Given the description of an element on the screen output the (x, y) to click on. 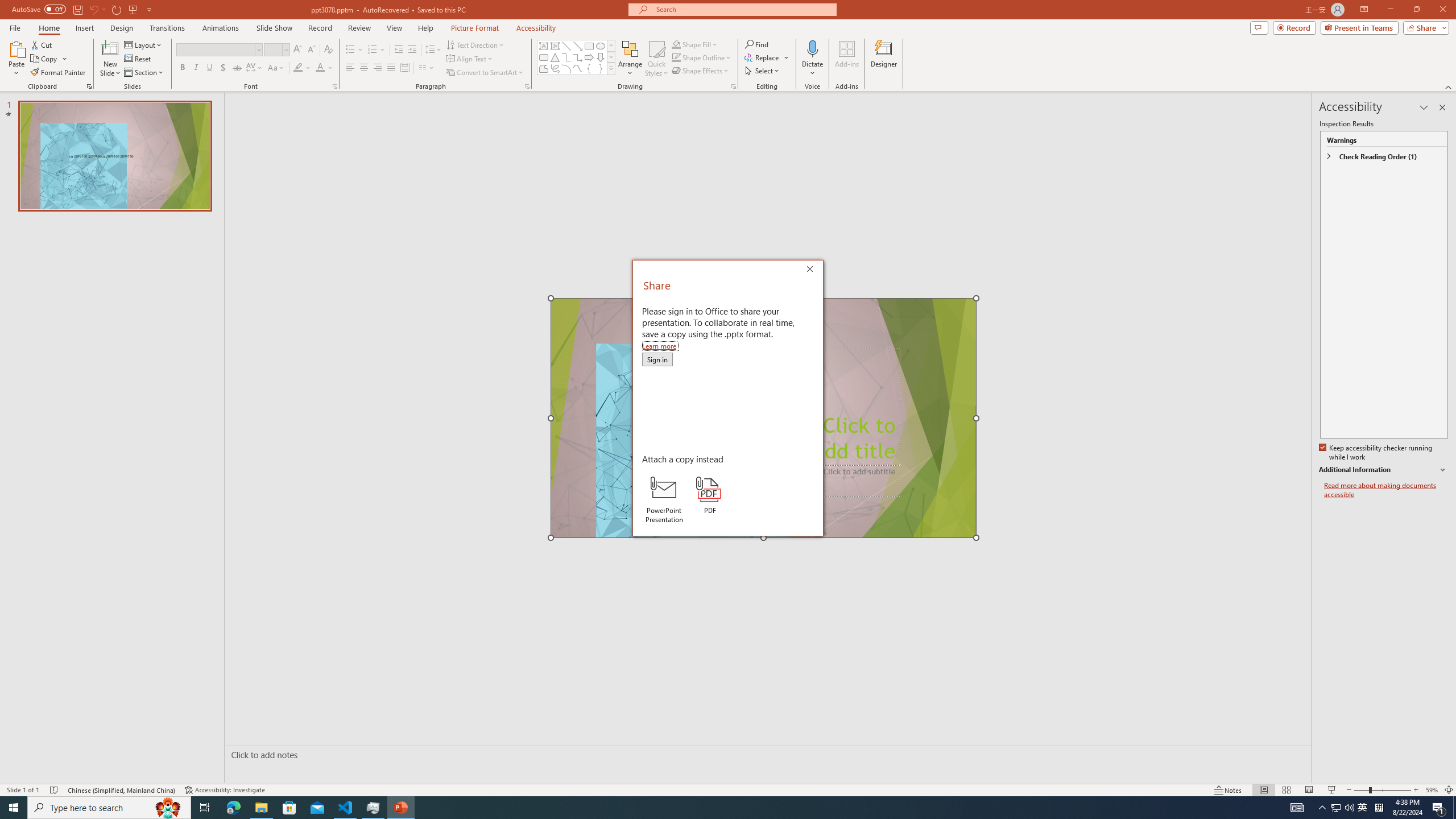
Shape Outline Green, Accent 1 (675, 56)
Shape Fill Dark Green, Accent 2 (675, 44)
